Given the description of an element on the screen output the (x, y) to click on. 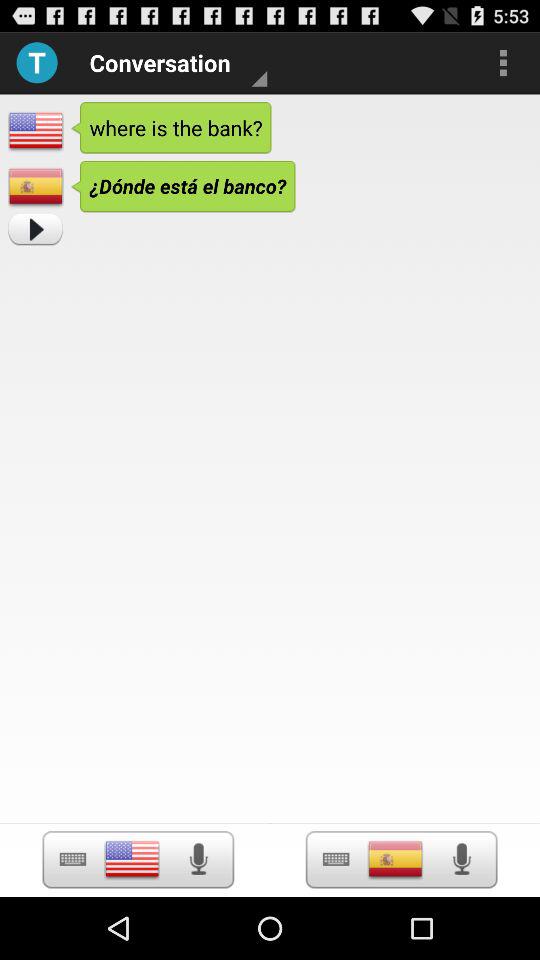
translate to (395, 859)
